Given the description of an element on the screen output the (x, y) to click on. 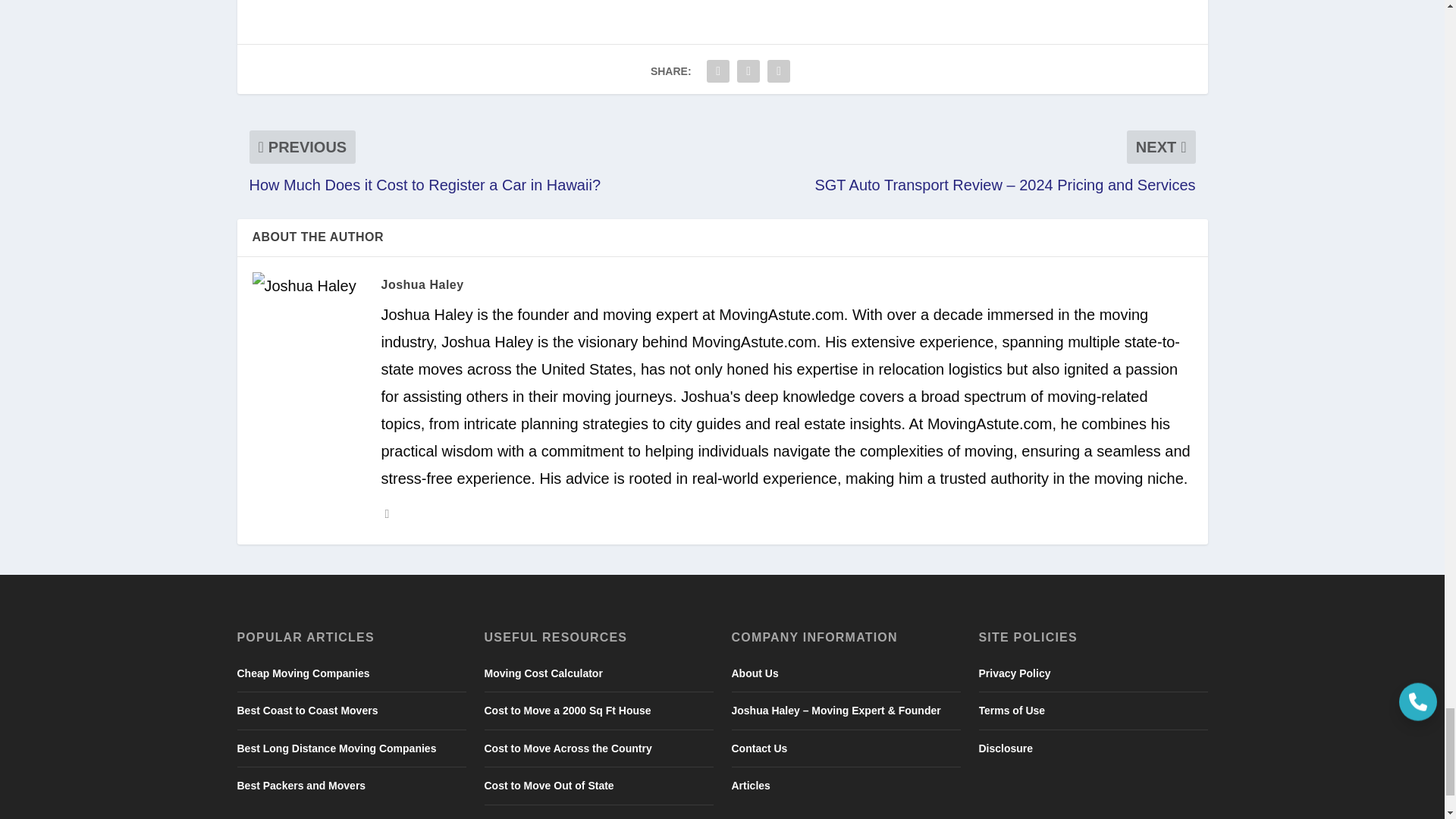
Share "Hawaii DMV Change of Address" via Facebook (718, 71)
Share "Hawaii DMV Change of Address" via Pinterest (777, 71)
View all posts by Joshua Haley (421, 284)
Share "Hawaii DMV Change of Address" via Twitter (747, 71)
